Given the description of an element on the screen output the (x, y) to click on. 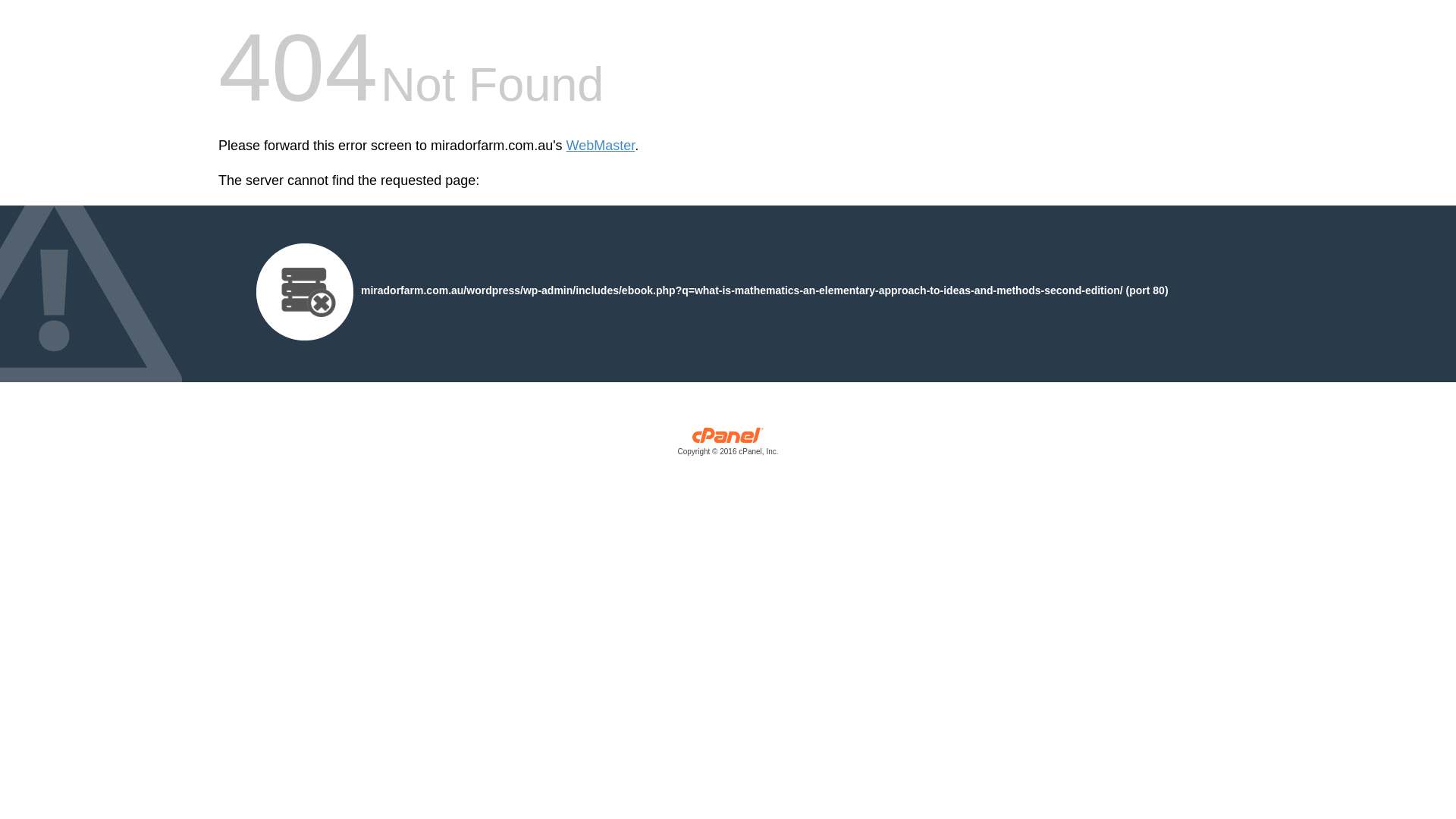
WebMaster Element type: text (600, 145)
